Given the description of an element on the screen output the (x, y) to click on. 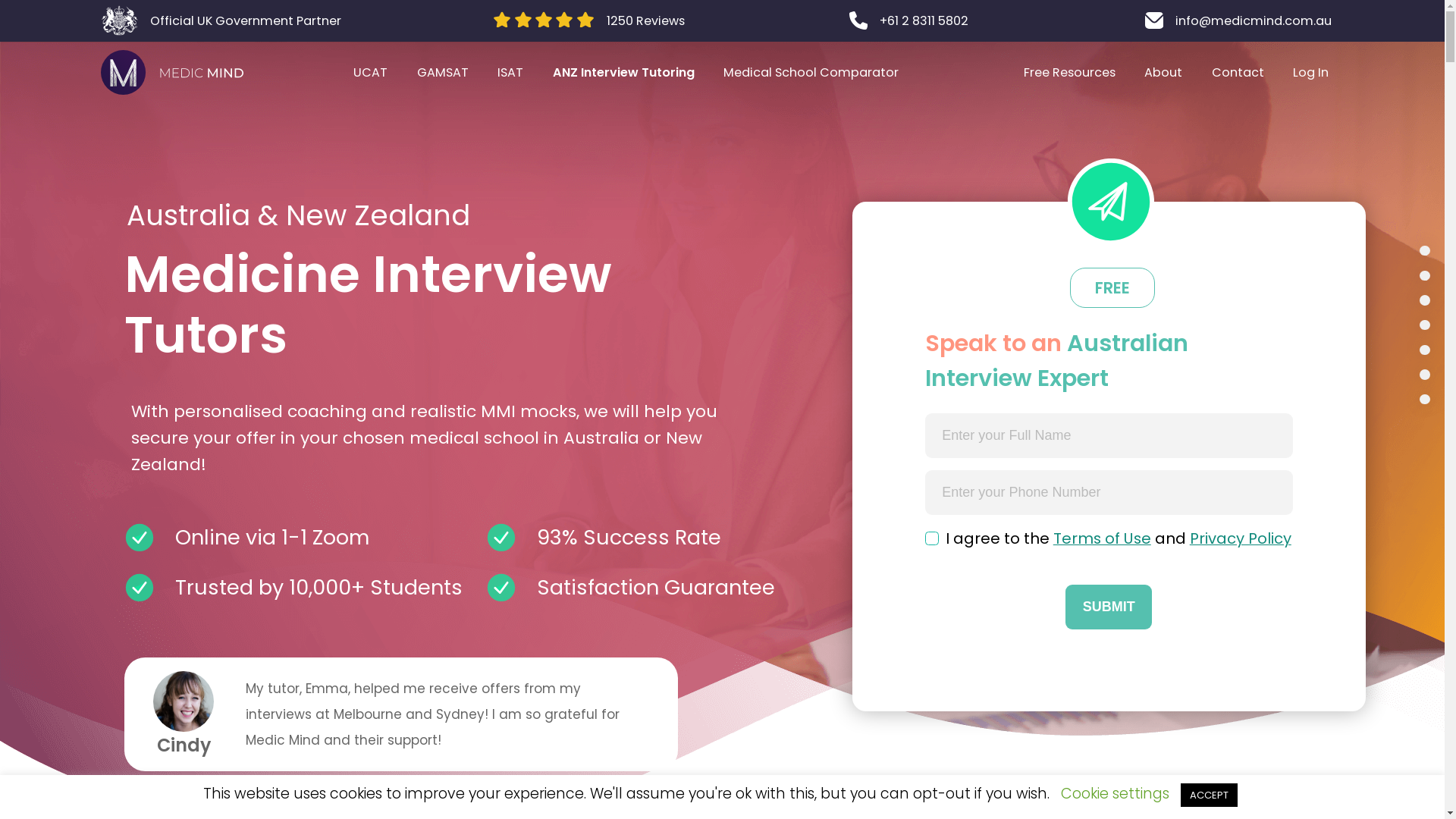
UCAT Element type: text (370, 72)
Privacy Policy Element type: text (1240, 538)
Cookie settings Element type: text (1114, 793)
About Element type: text (1163, 72)
Contact Element type: text (1238, 72)
Yes, I want a Free Lesson! Element type: text (186, 117)
Medical School Comparator Element type: text (811, 72)
ACCEPT Element type: text (1208, 794)
Terms of Use Element type: text (1102, 538)
Free Resources Element type: text (1068, 72)
Log In Element type: text (1310, 72)
GAMSAT Element type: text (442, 72)
Submit Element type: text (1108, 606)
info@medicmind.com.au Element type: text (1237, 20)
ANZ Interview Tutoring Element type: text (623, 72)
+61 2 8311 5802 Element type: text (907, 20)
ISAT Element type: text (510, 72)
